Given the description of an element on the screen output the (x, y) to click on. 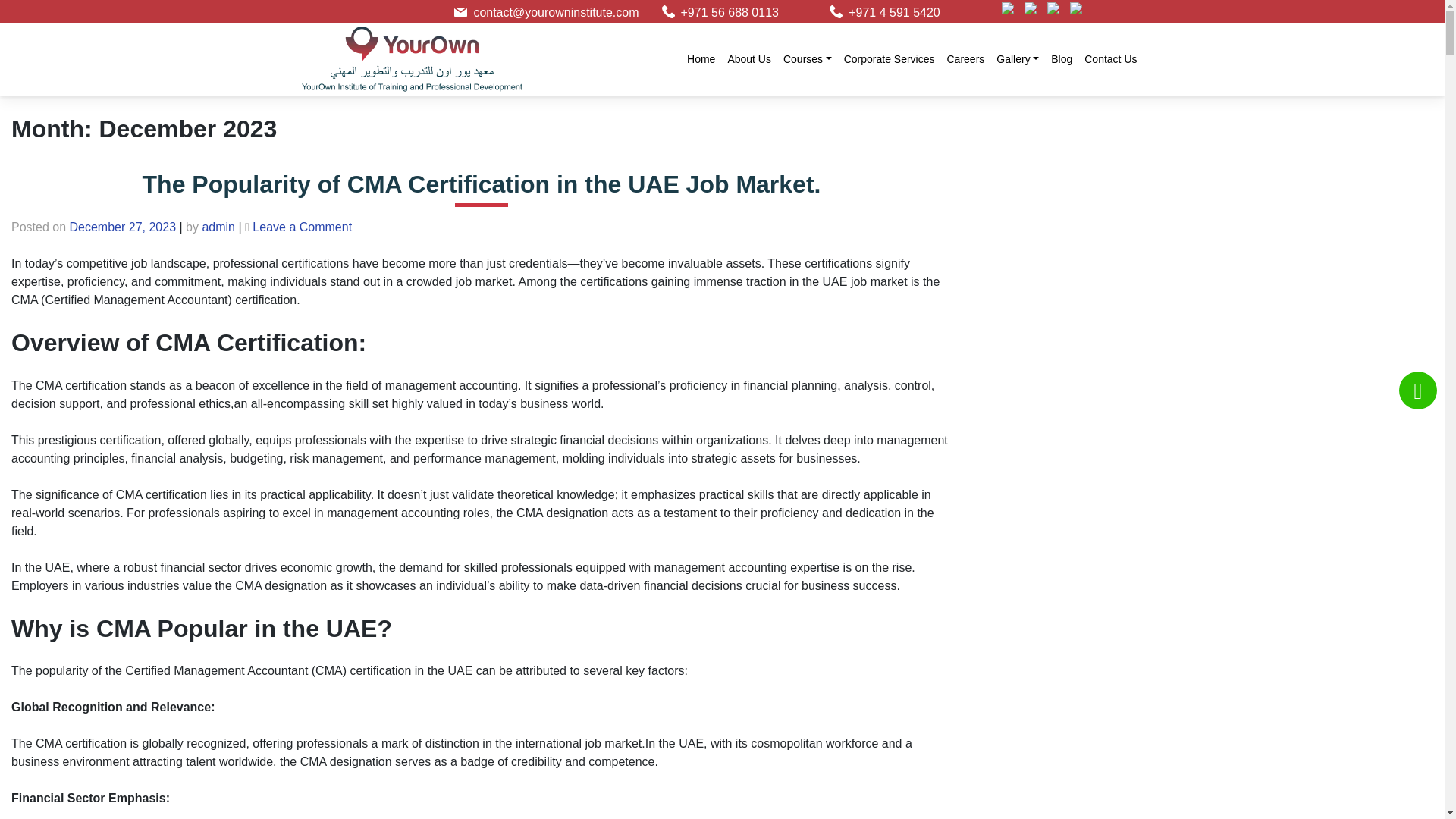
Courses (807, 59)
Courses (807, 59)
Leave a Comment (301, 226)
December 27, 2023 (122, 226)
Contact Us (1110, 59)
admin (218, 226)
Contact Us (1110, 59)
Corporate Services (889, 59)
Corporate Services (889, 59)
Contact Us On WhatsApp (1418, 390)
The Popularity of CMA Certification in the UAE Job Market. (481, 184)
